Given the description of an element on the screen output the (x, y) to click on. 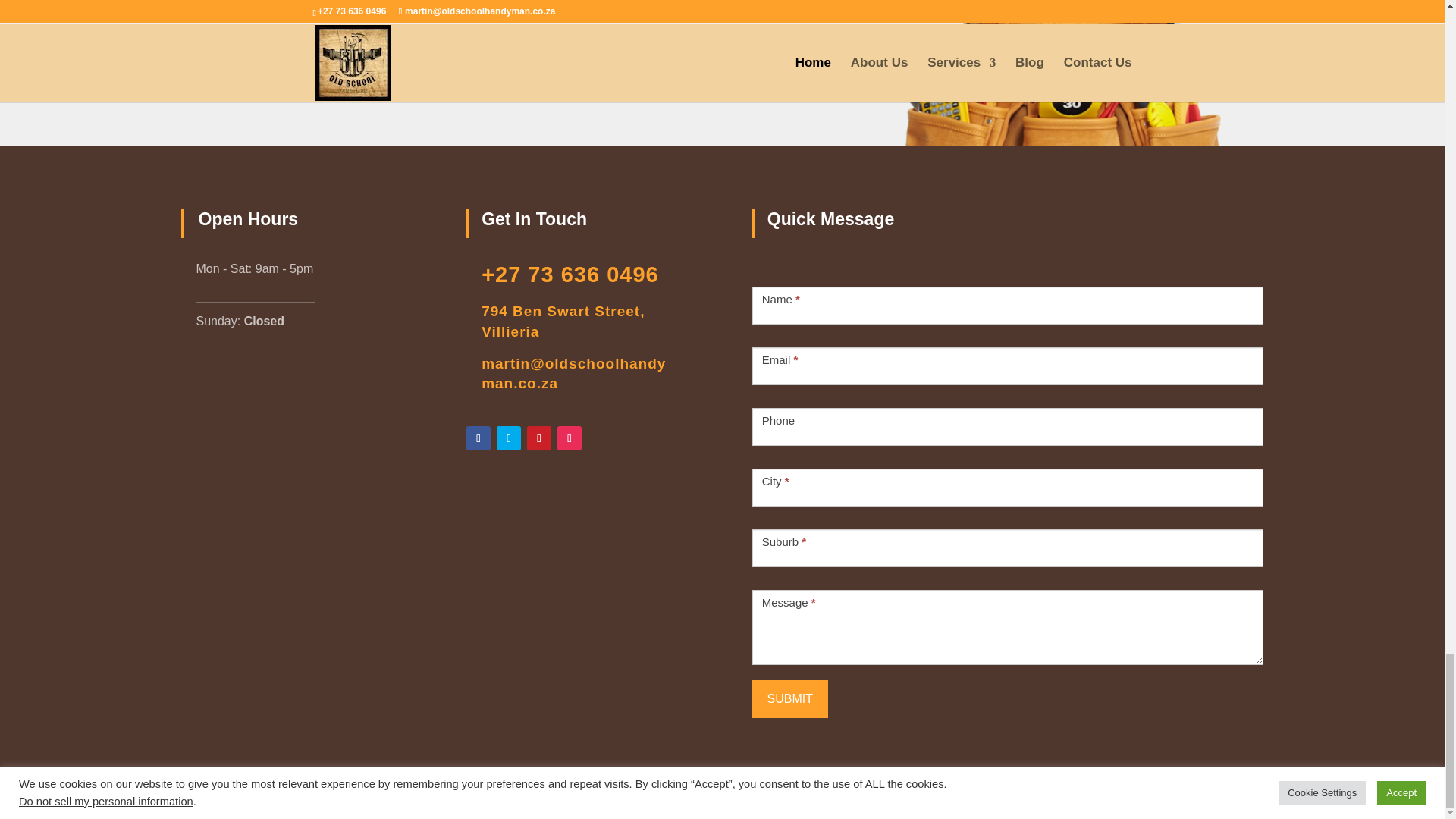
Follow on Twitter (508, 437)
Follow on Pinterest (539, 437)
Follow on Facebook (477, 437)
Follow on Instagram (568, 437)
